Given the description of an element on the screen output the (x, y) to click on. 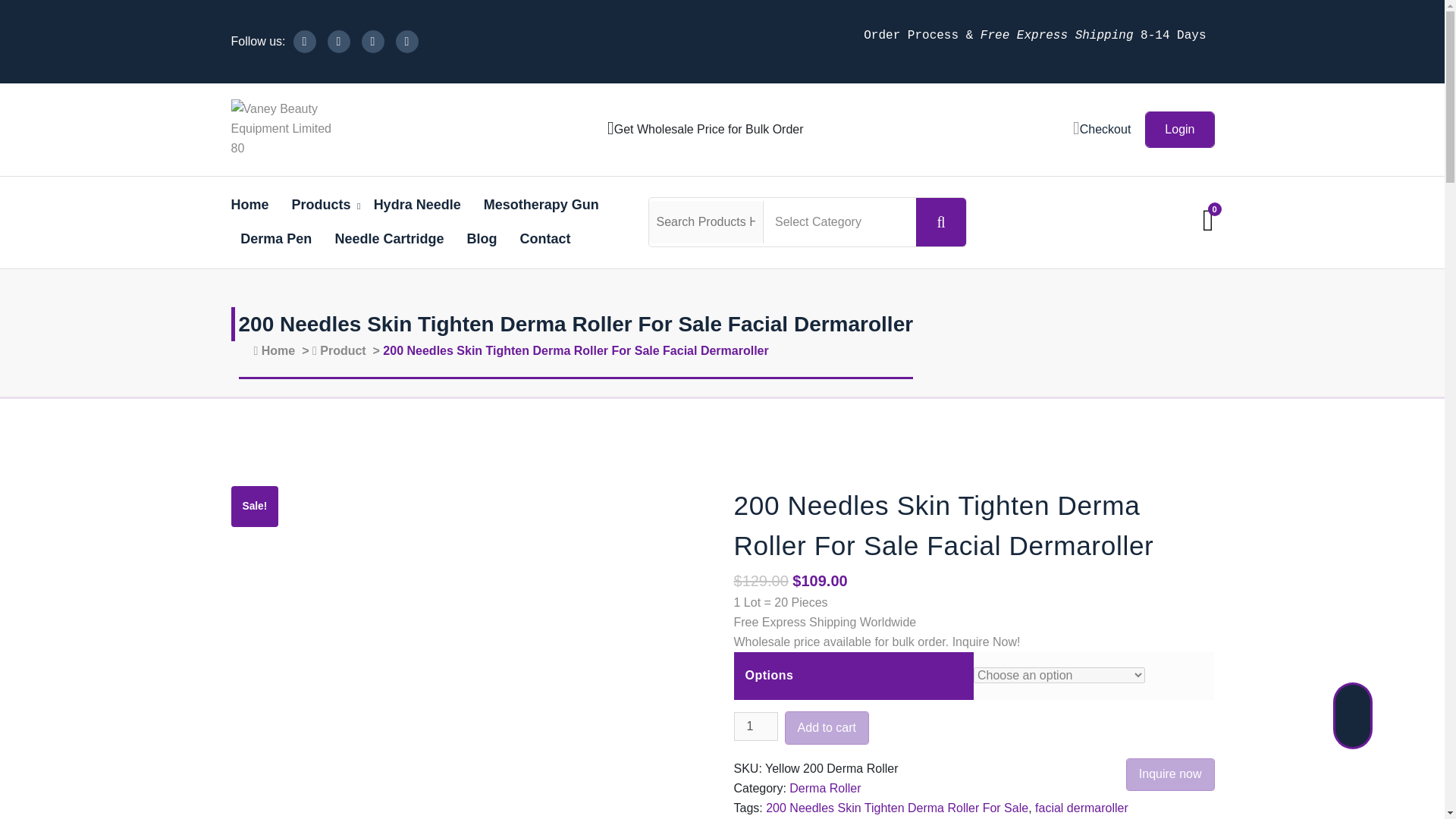
Inquire now (1170, 775)
Checkout (1102, 129)
Login (1178, 129)
1 (755, 726)
